Given the description of an element on the screen output the (x, y) to click on. 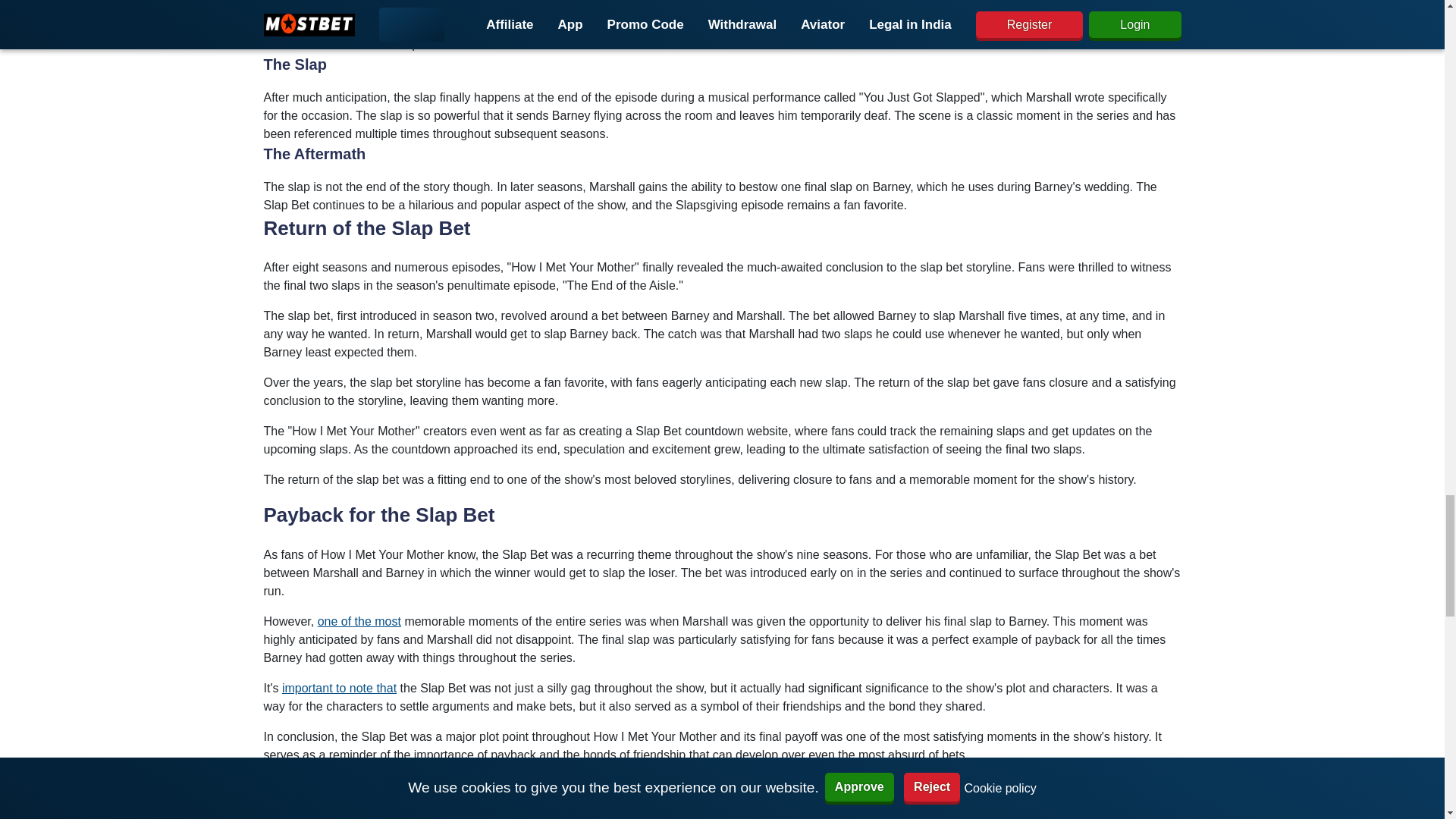
one of the most (359, 621)
when and where (717, 34)
important to note that (339, 687)
